Given the description of an element on the screen output the (x, y) to click on. 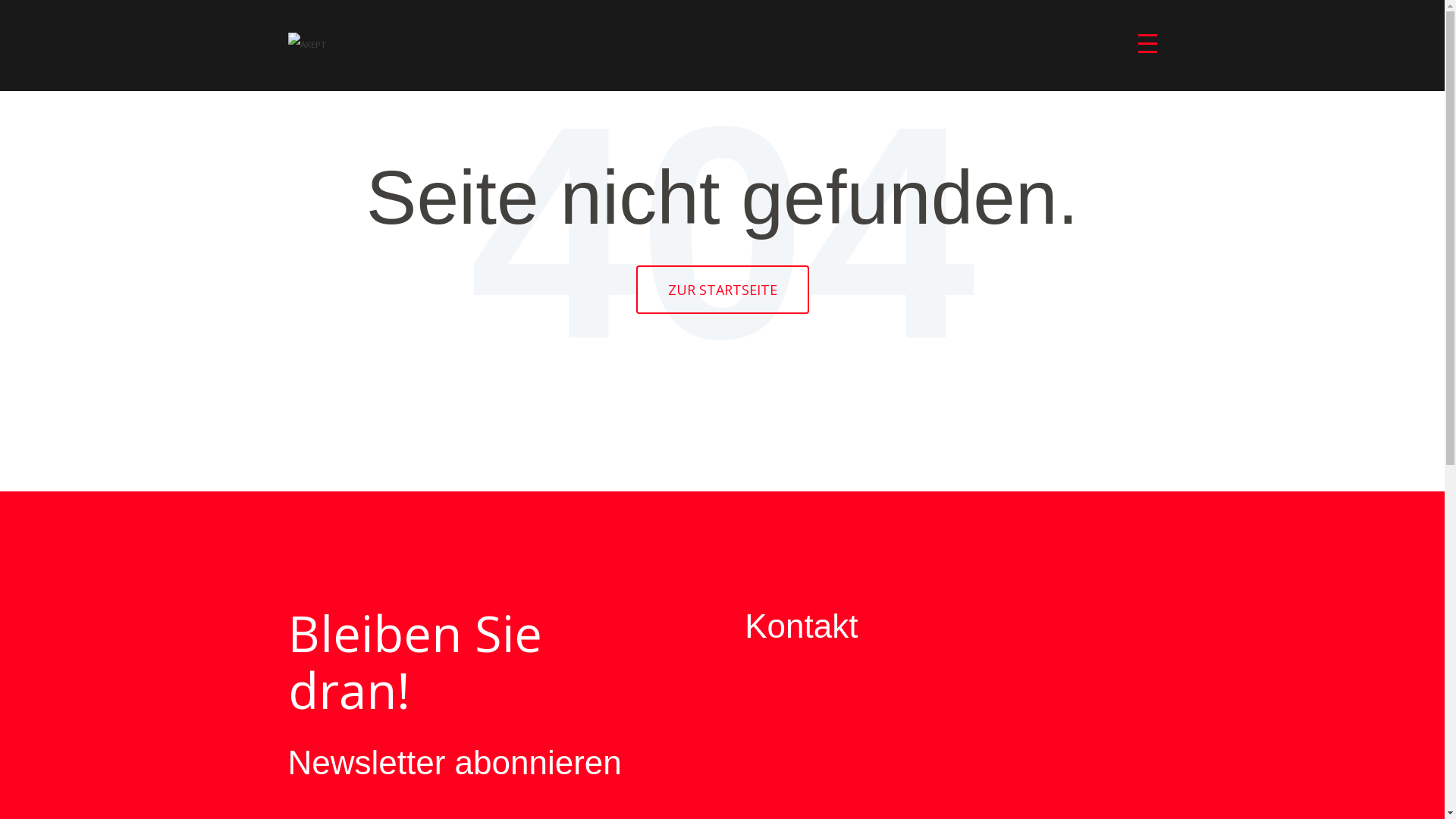
ZUR STARTSEITE Element type: text (721, 289)
AXEPT Element type: hover (307, 44)
